Given the description of an element on the screen output the (x, y) to click on. 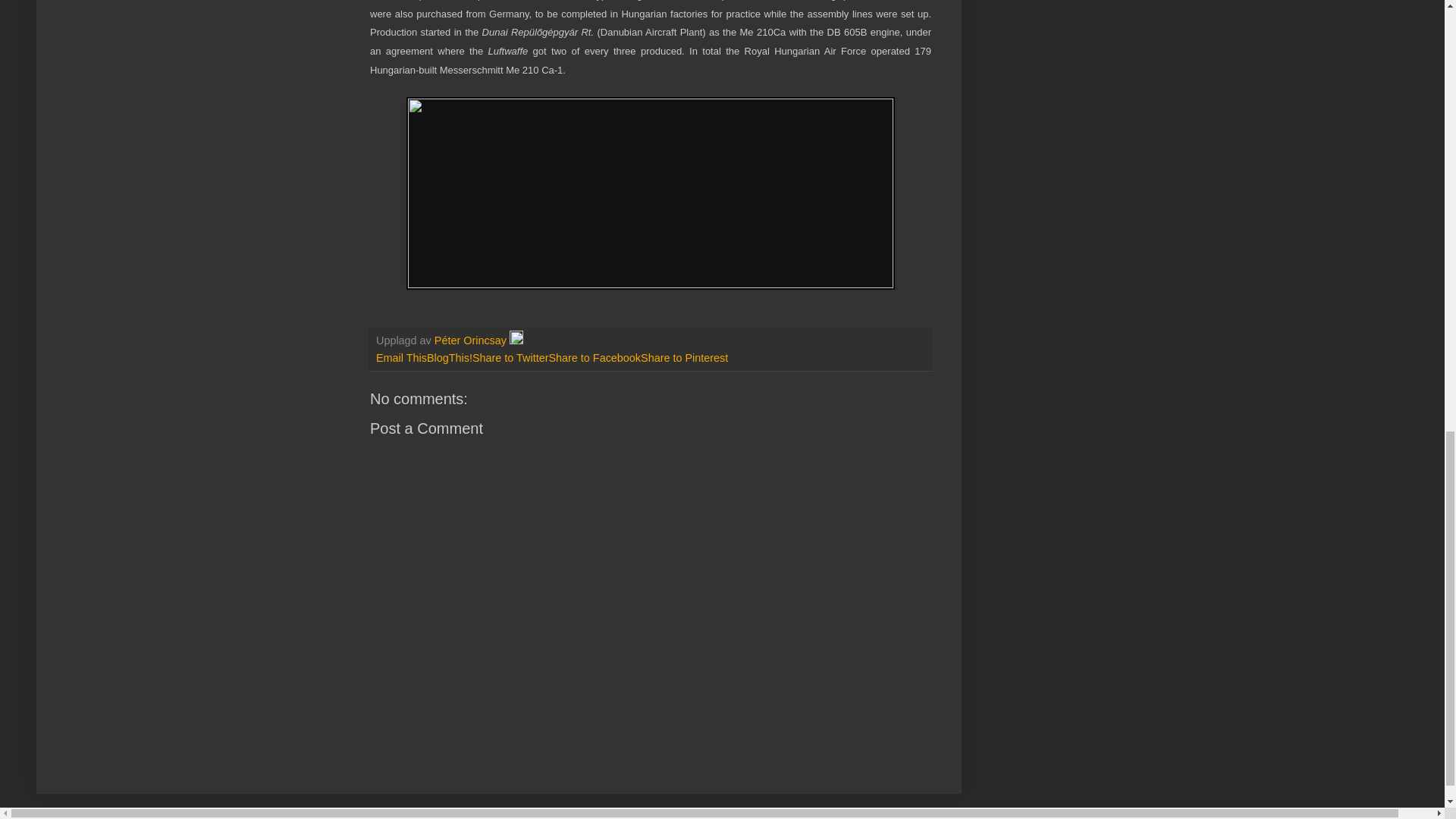
Edit Post (515, 340)
BlogThis! (448, 357)
Email This (400, 357)
Share to Facebook (594, 357)
Email This (400, 357)
author profile (471, 340)
Share to Facebook (594, 357)
Share to Twitter (509, 357)
BlogThis! (448, 357)
Share to Pinterest (684, 357)
Share to Twitter (509, 357)
Share to Pinterest (684, 357)
